Given the description of an element on the screen output the (x, y) to click on. 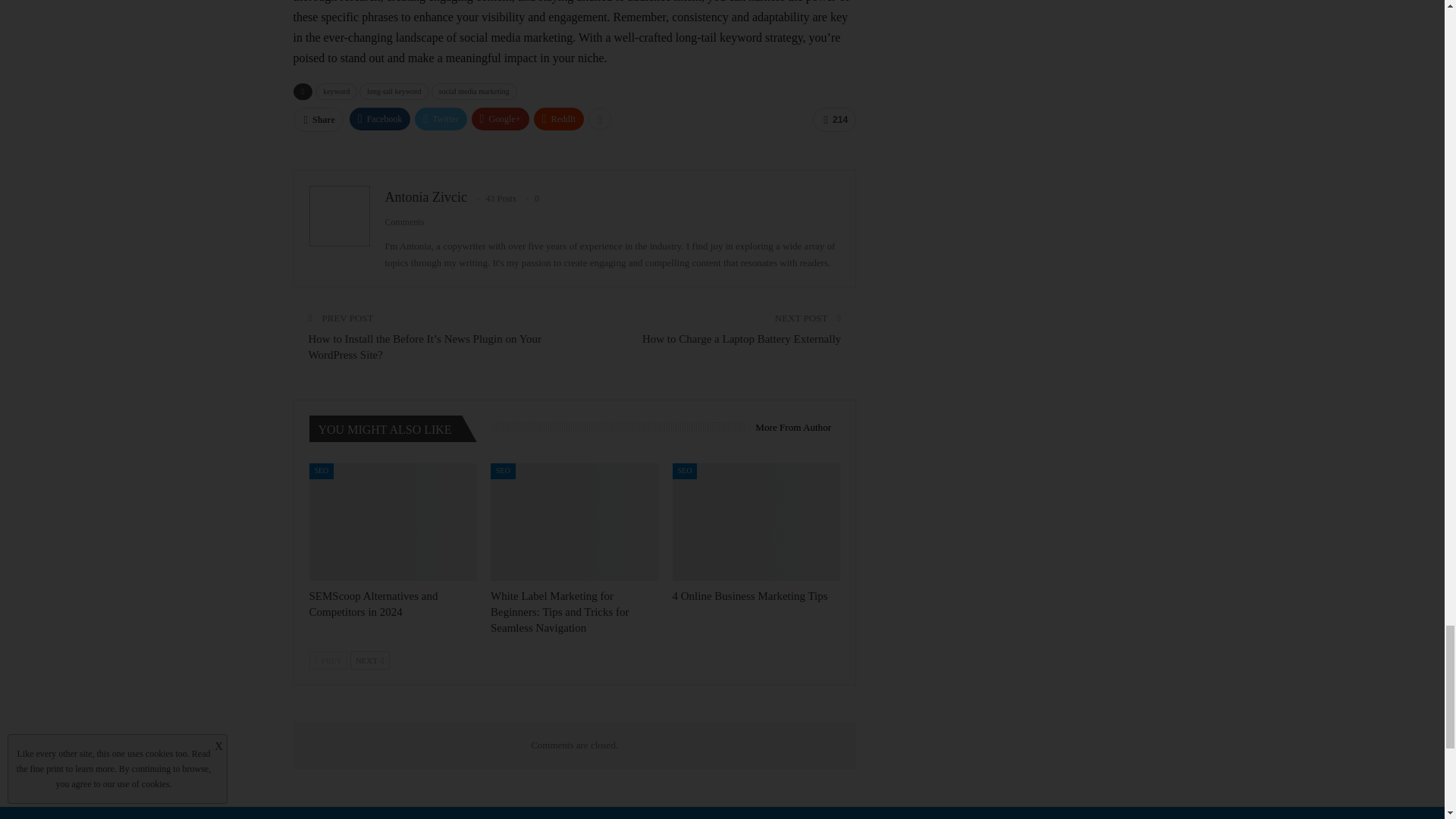
4 Online Business Marketing Tips (750, 595)
social media marketing (473, 91)
SEMScoop Alternatives and Competitors in 2024 (373, 603)
ReddIt (559, 118)
keyword (335, 91)
Twitter (439, 118)
How to Charge a Laptop Battery Externally (741, 338)
Next (370, 660)
long-tail keyword (393, 91)
Previous (327, 660)
SEMScoop Alternatives and Competitors in 2024 (392, 521)
Facebook (379, 118)
Antonia Zivcic (426, 196)
